Given the description of an element on the screen output the (x, y) to click on. 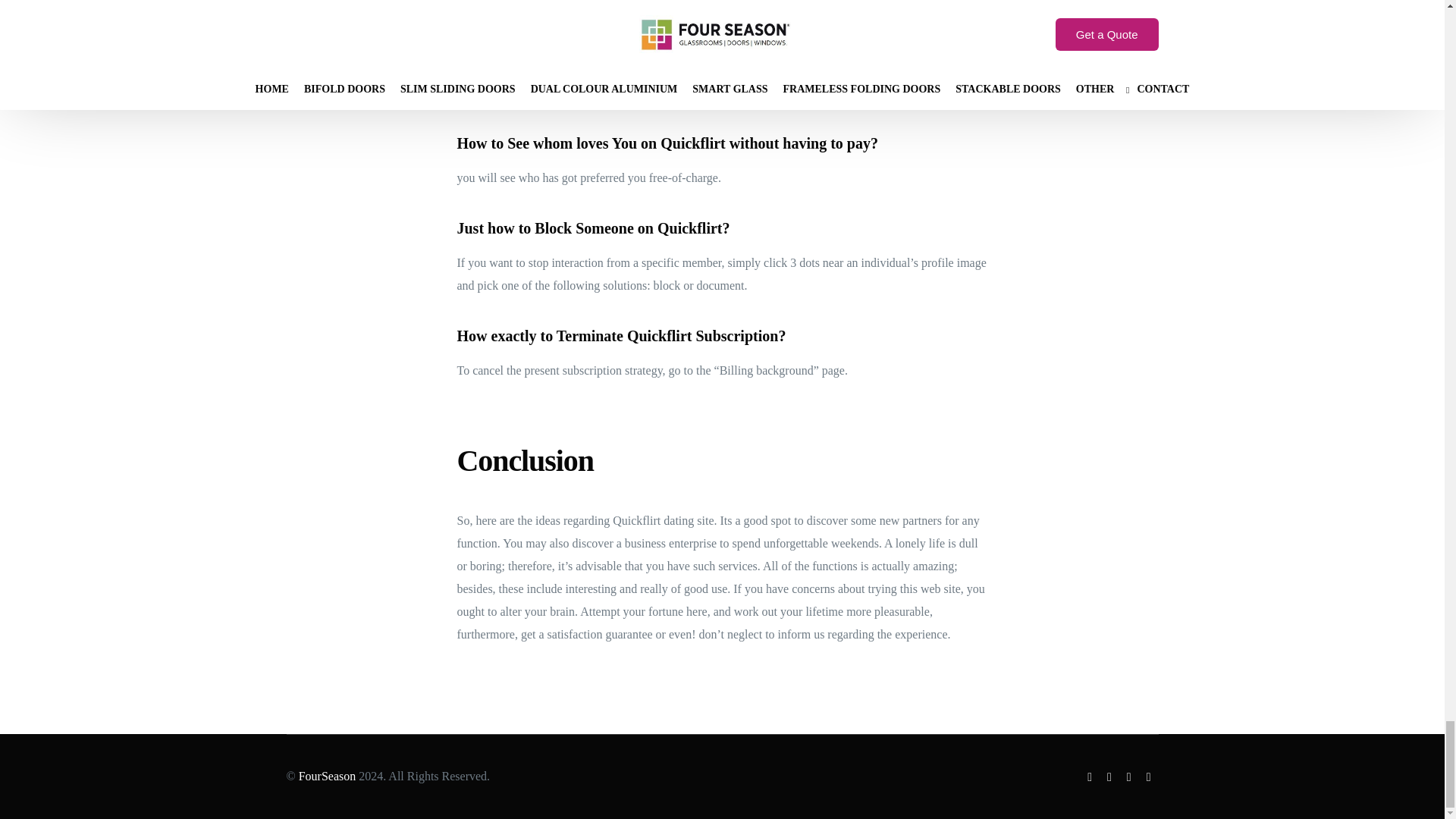
FourSeason (327, 775)
